Given the description of an element on the screen output the (x, y) to click on. 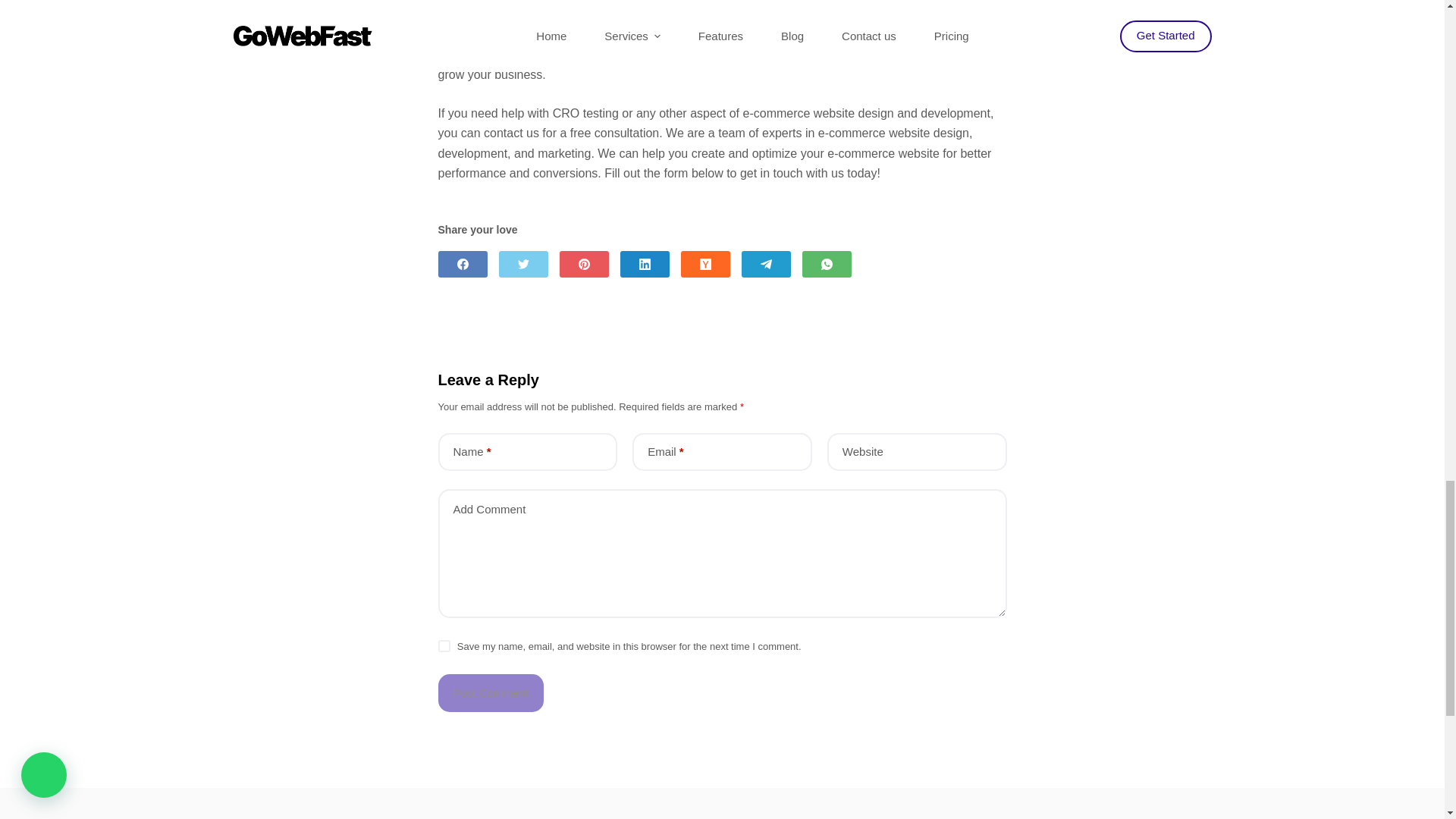
yes (443, 645)
